Given the description of an element on the screen output the (x, y) to click on. 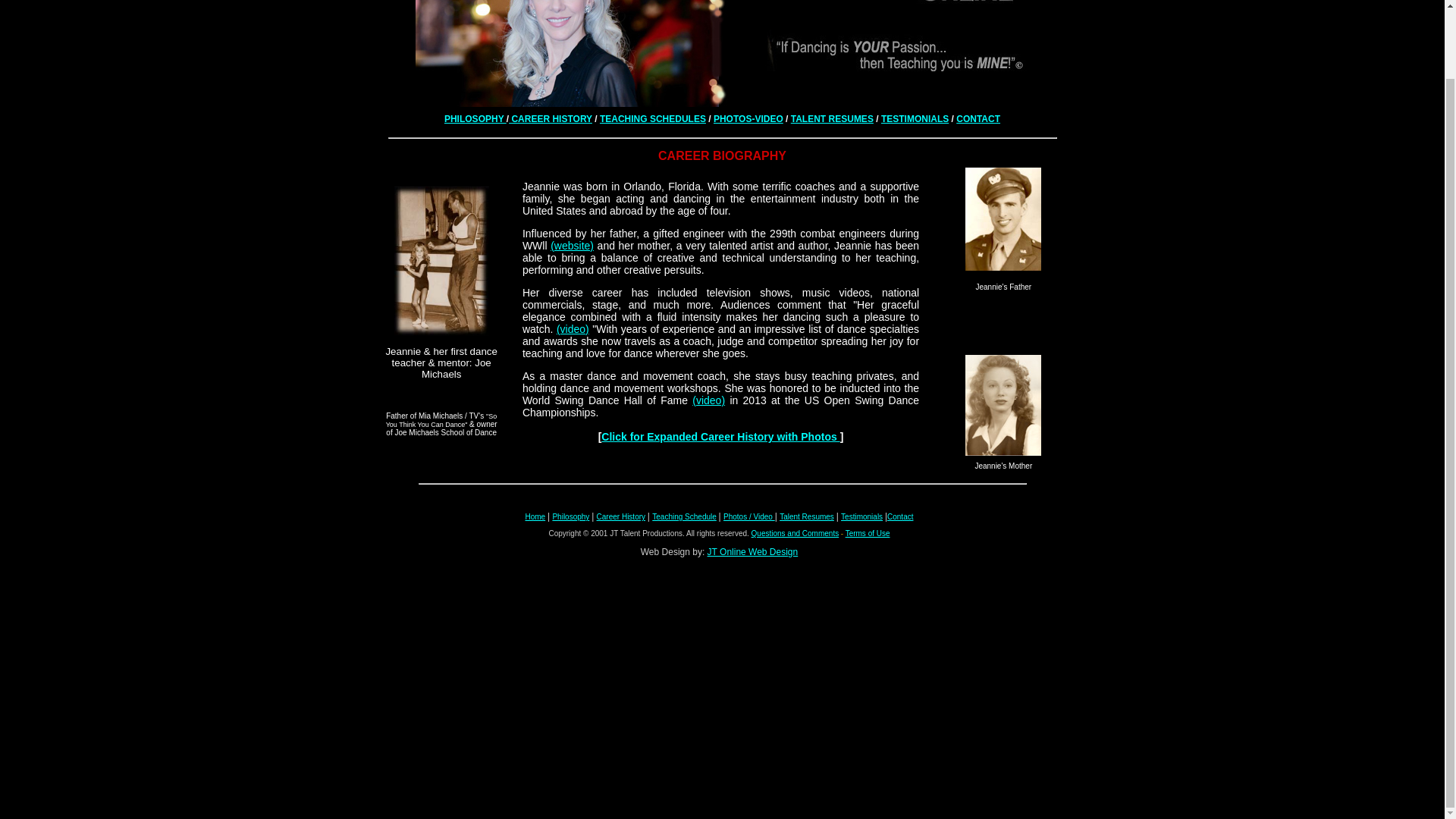
Teaching Schedule (684, 516)
JT Online Web Design (752, 552)
Testimonials (861, 516)
Questions and Comments (795, 533)
TESTIMONIALS (914, 118)
CONTACT (978, 118)
TALENT RESUMES (831, 118)
Talent Resumes (806, 516)
TEACHING SCHEDULES (652, 118)
Click for Expanded Career History with Photos (720, 436)
